Given the description of an element on the screen output the (x, y) to click on. 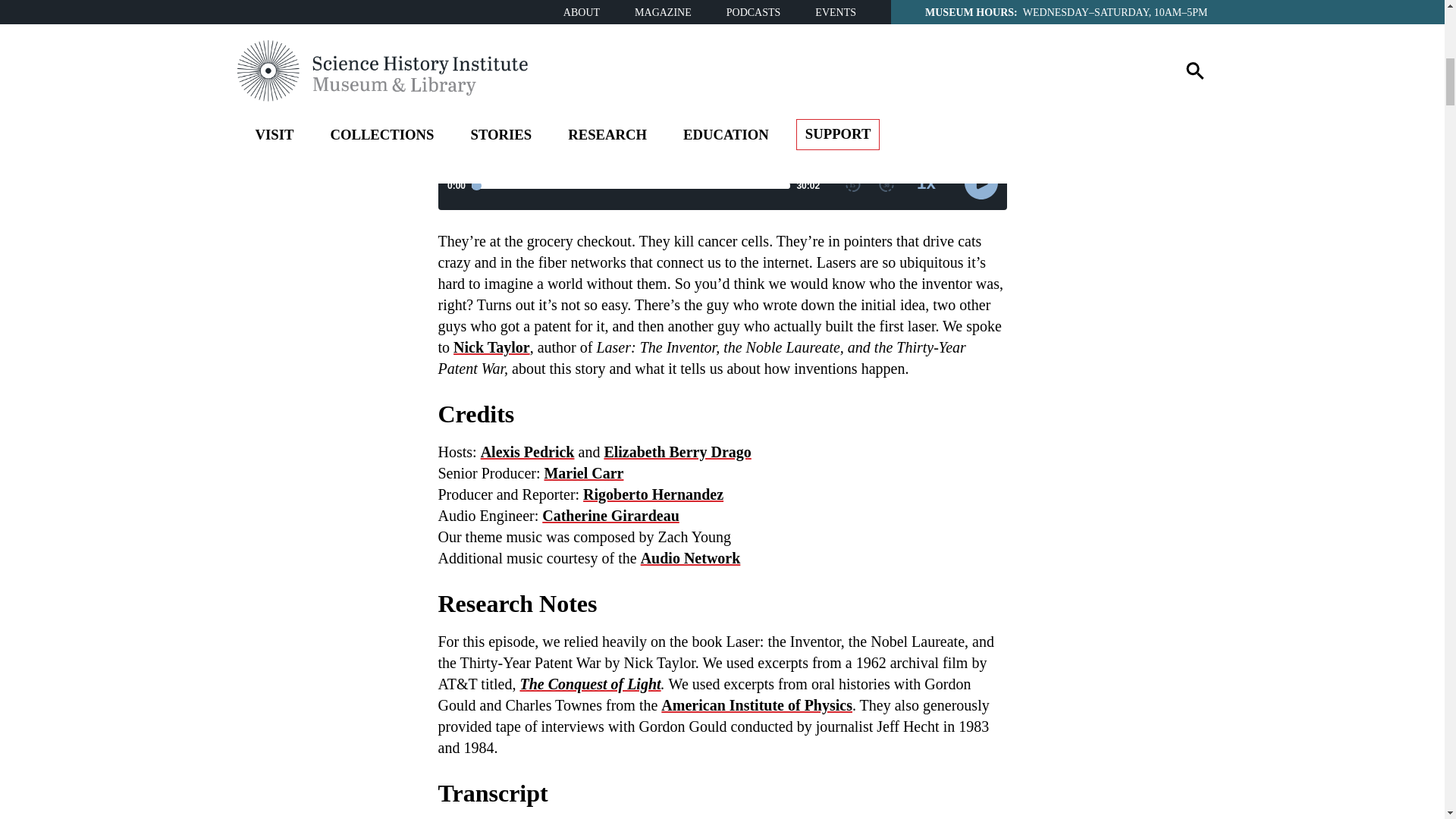
Embed Player (722, 161)
